Given the description of an element on the screen output the (x, y) to click on. 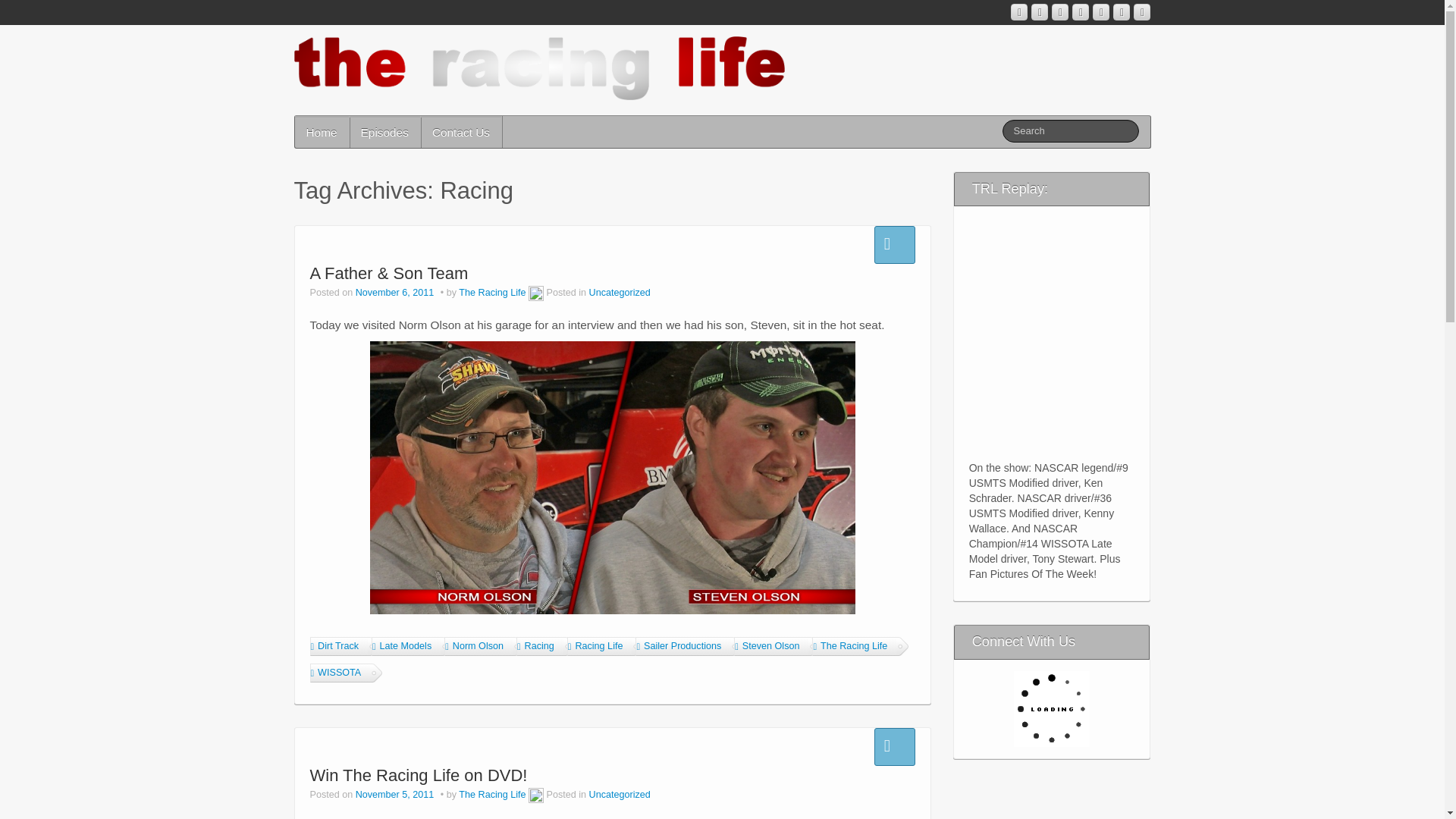
Olsons (612, 477)
Dirt Track (337, 646)
Permalink to Win The Racing Life on DVD! (417, 774)
November 5, 2011 (395, 794)
the racing life Instagram (1018, 12)
The Racing Life (491, 292)
Racing Life (599, 646)
the racing life Email (1039, 12)
Win The Racing Life on DVD! (417, 774)
The Racing Life (491, 794)
